Given the description of an element on the screen output the (x, y) to click on. 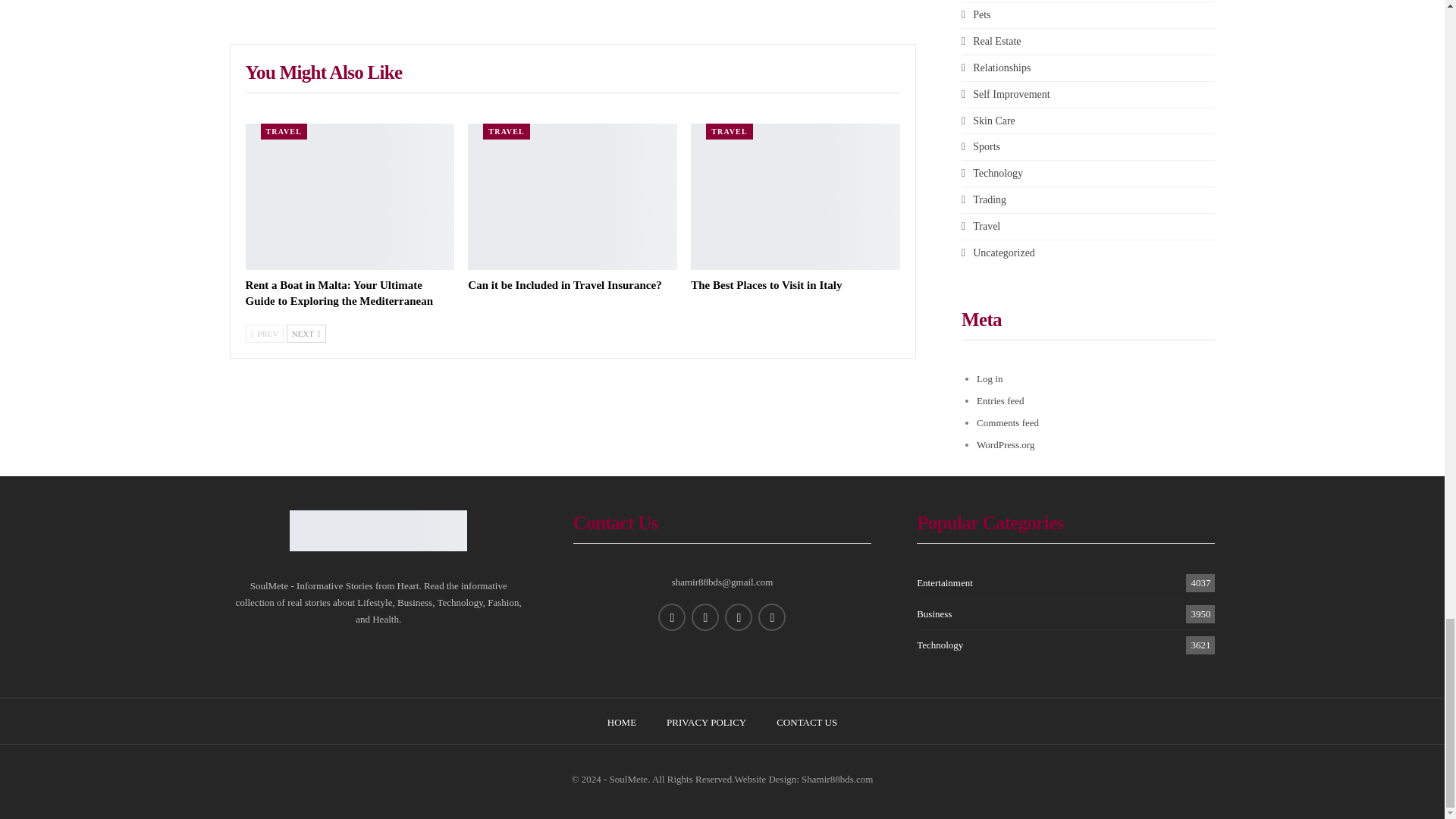
Can it be Included in Travel Insurance? (572, 196)
